Given the description of an element on the screen output the (x, y) to click on. 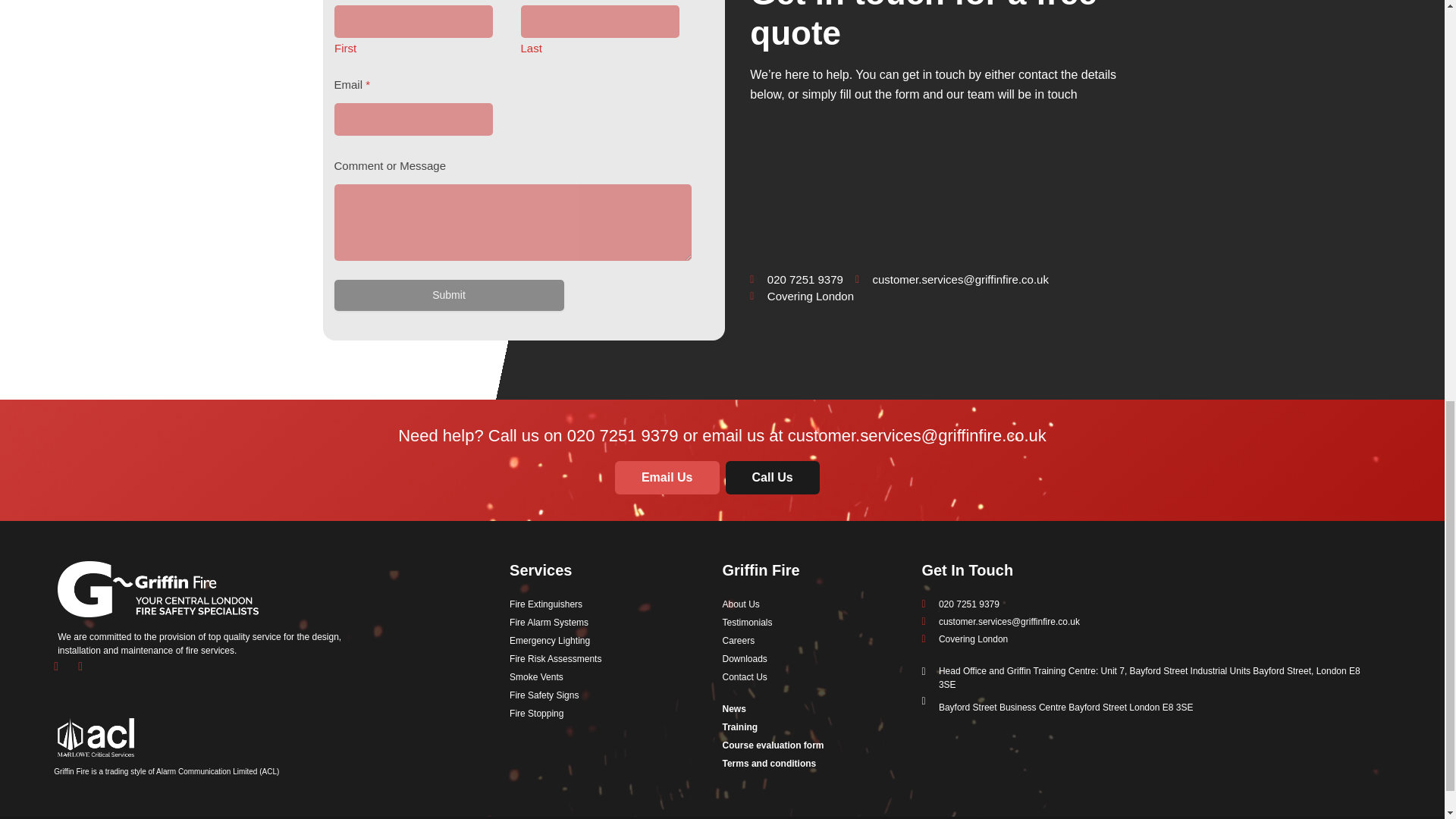
London, E8 3SE (936, 188)
